Given the description of an element on the screen output the (x, y) to click on. 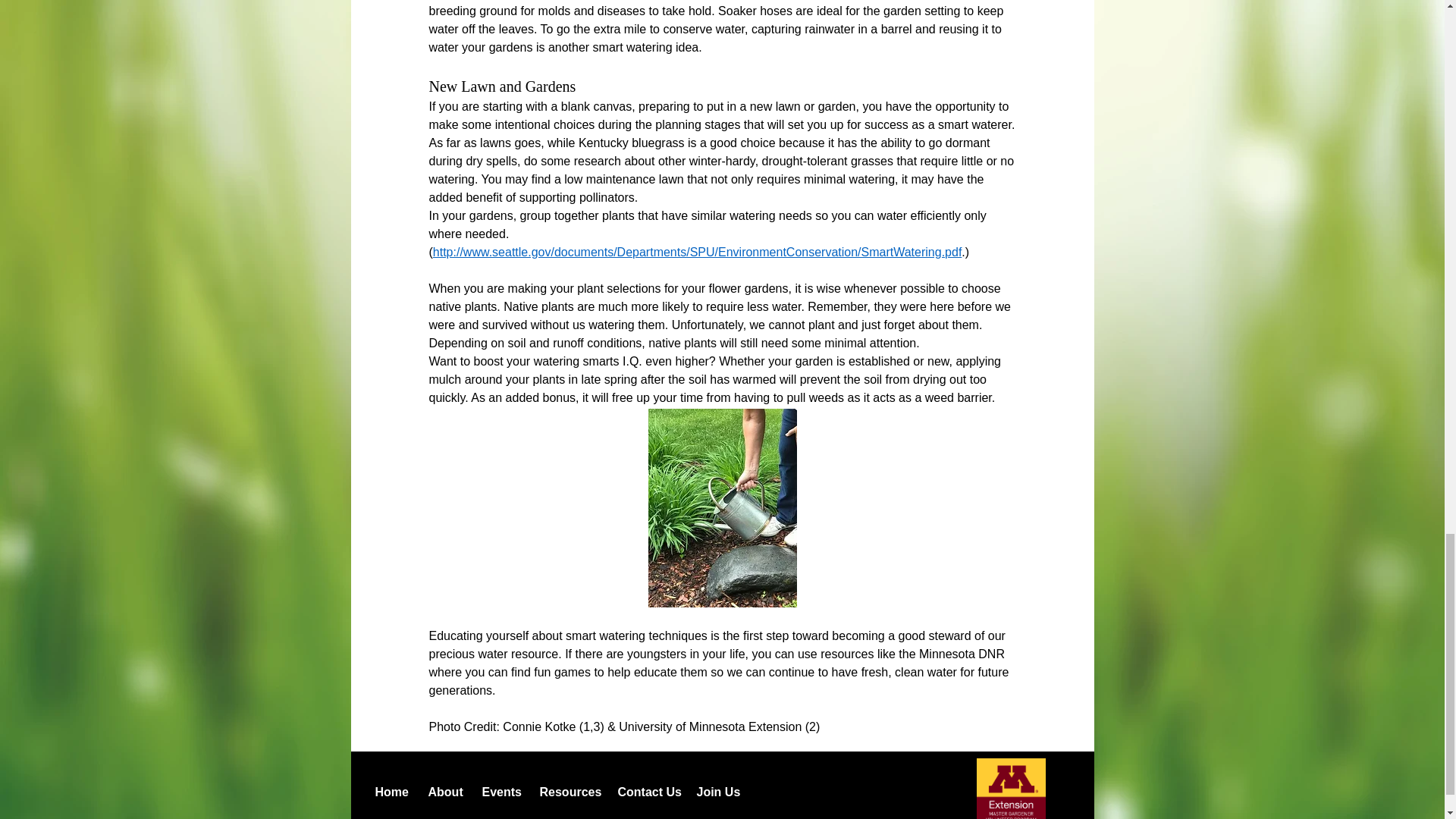
About (443, 791)
Resources (566, 791)
Events (498, 791)
Home (390, 791)
